Given the description of an element on the screen output the (x, y) to click on. 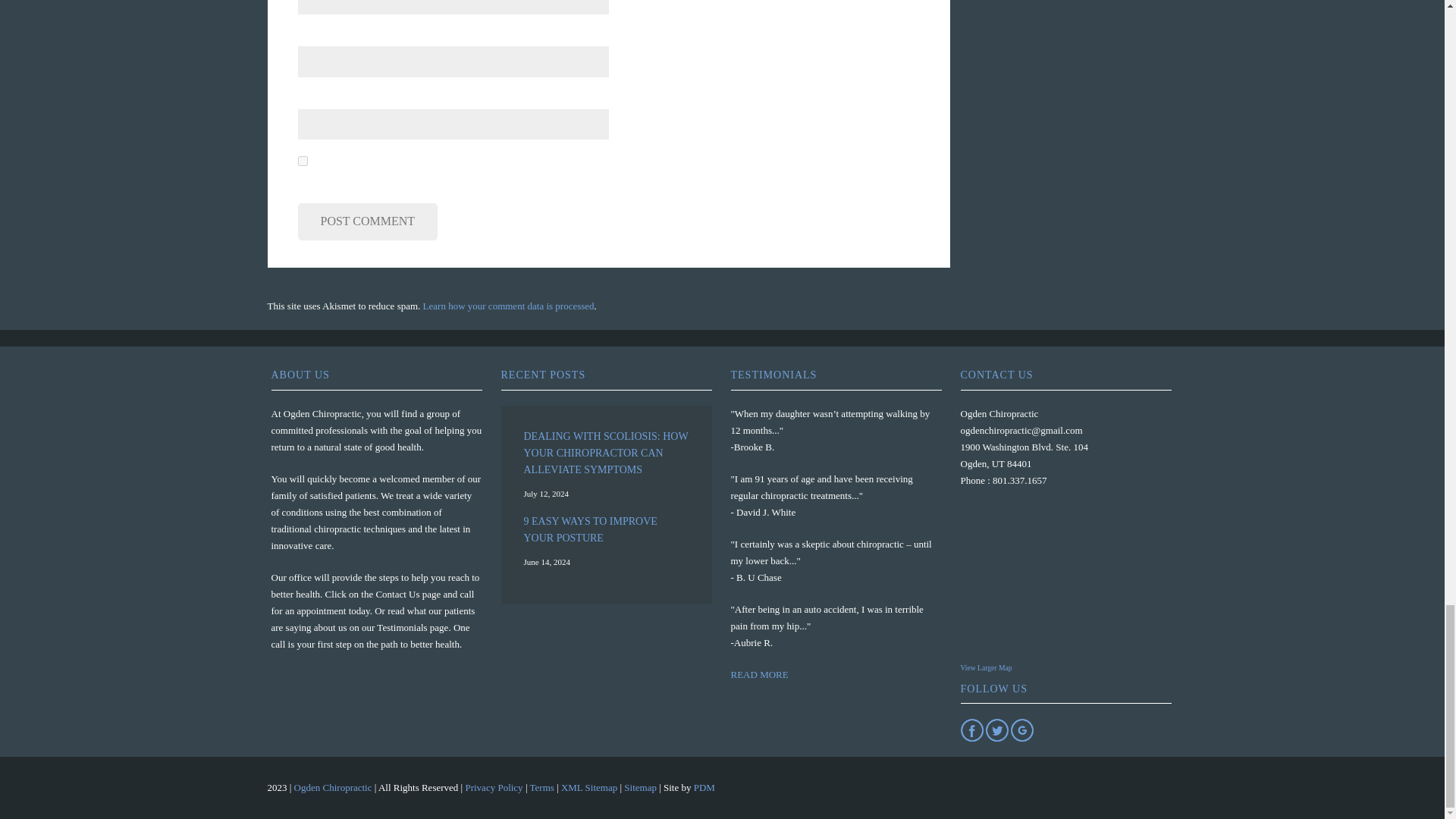
Ogden SEO (704, 787)
Post Comment (367, 221)
Testimonials (759, 674)
Ogden Chiropractic Google Maps (1054, 580)
yes (302, 161)
